Given the description of an element on the screen output the (x, y) to click on. 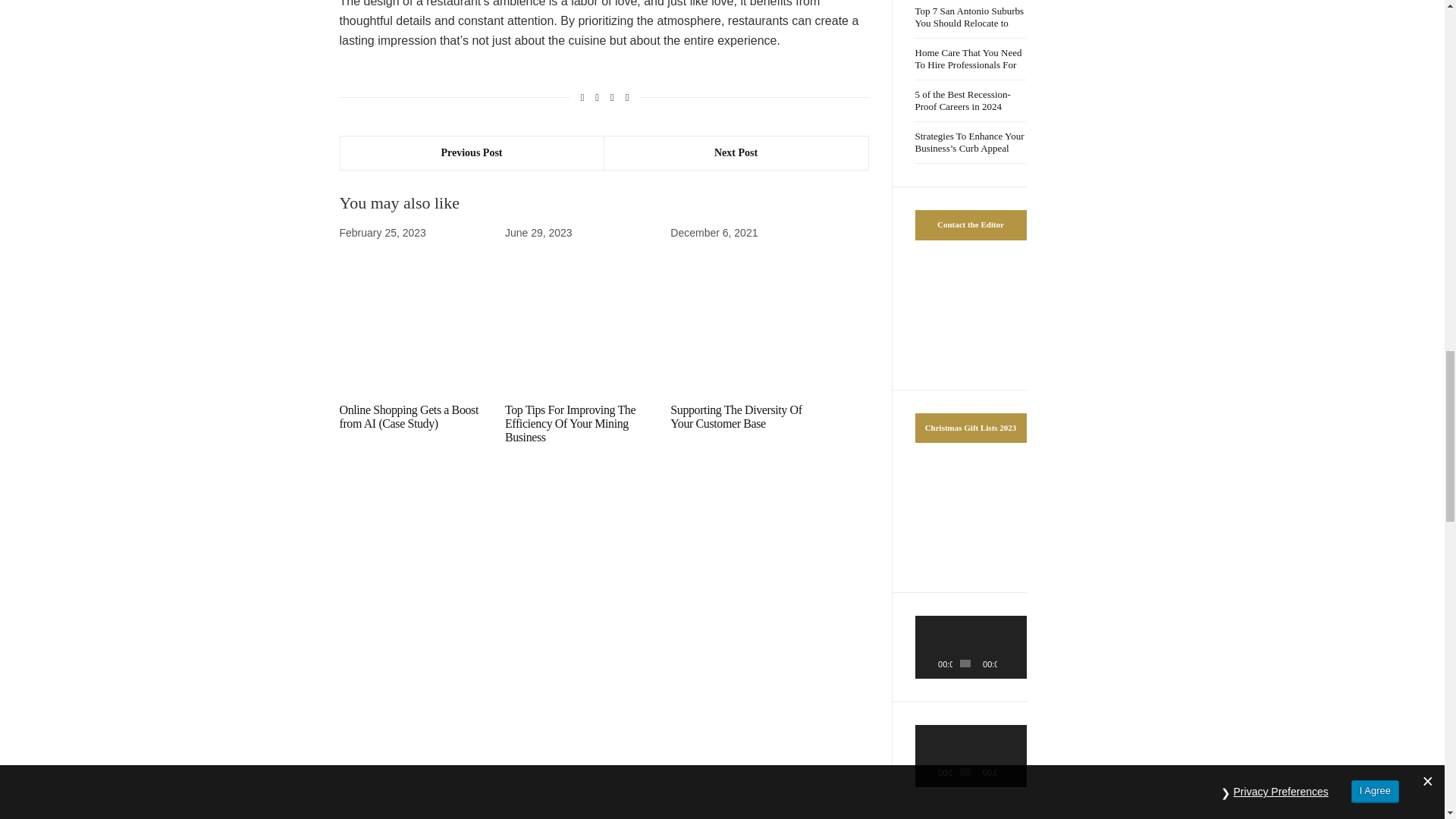
Play (934, 771)
Fullscreen (1019, 771)
Fullscreen (1019, 663)
Mute (1008, 663)
Mute (1008, 771)
Play (934, 663)
